Given the description of an element on the screen output the (x, y) to click on. 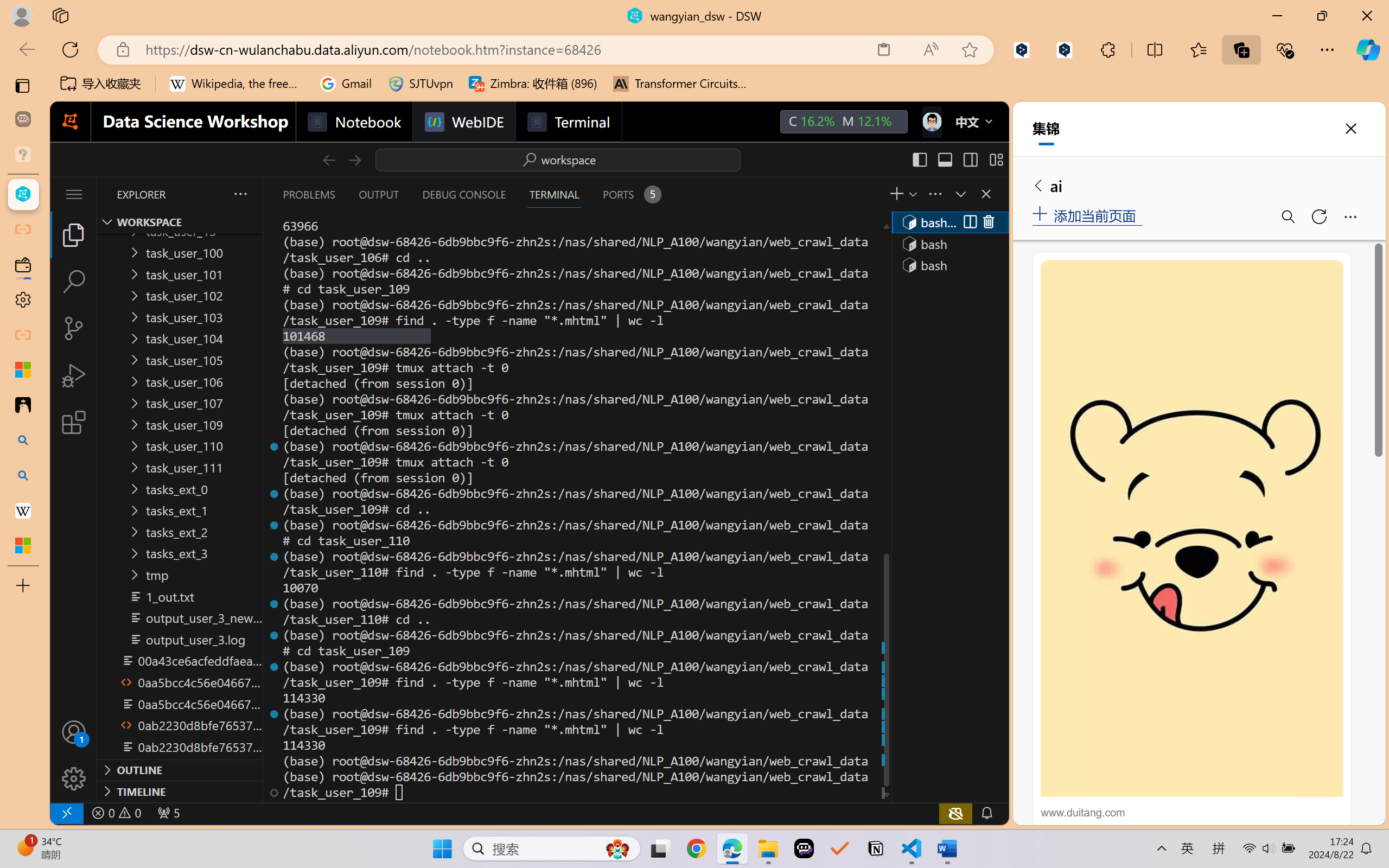
Extensions (Ctrl+Shift+X) (73, 422)
Explorer Section: workspace (179, 221)
Views and More Actions... (934, 193)
Class: actions-container (978, 221)
Notebook (353, 121)
Kill (Delete) (987, 221)
Class: xterm-link-layer (574, 508)
Manage (73, 755)
